Given the description of an element on the screen output the (x, y) to click on. 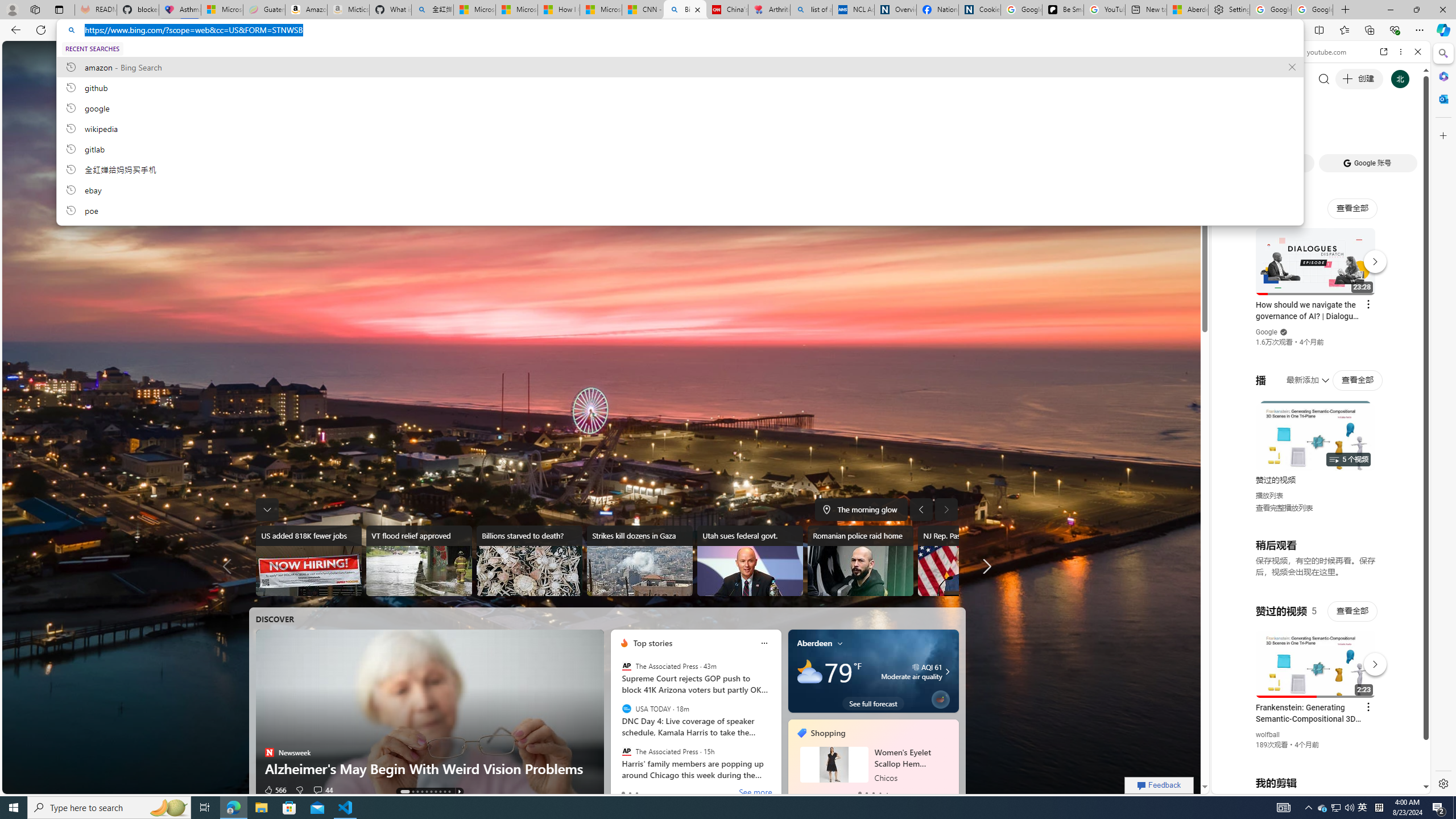
Music (1320, 309)
ebay, recent searches from history (679, 189)
Romanian police raid home (859, 560)
Class: eplant-bubble (939, 699)
Previous news (229, 566)
AutomationID: tab-7 (440, 791)
Personal Profile (12, 9)
More (528, 51)
AutomationID: tab-6 (435, 791)
gitlab, recent searches from history (679, 148)
Strikes kill dozens in Gaza (639, 560)
poe, recent searches from history (679, 209)
Close (1417, 51)
